Given the description of an element on the screen output the (x, y) to click on. 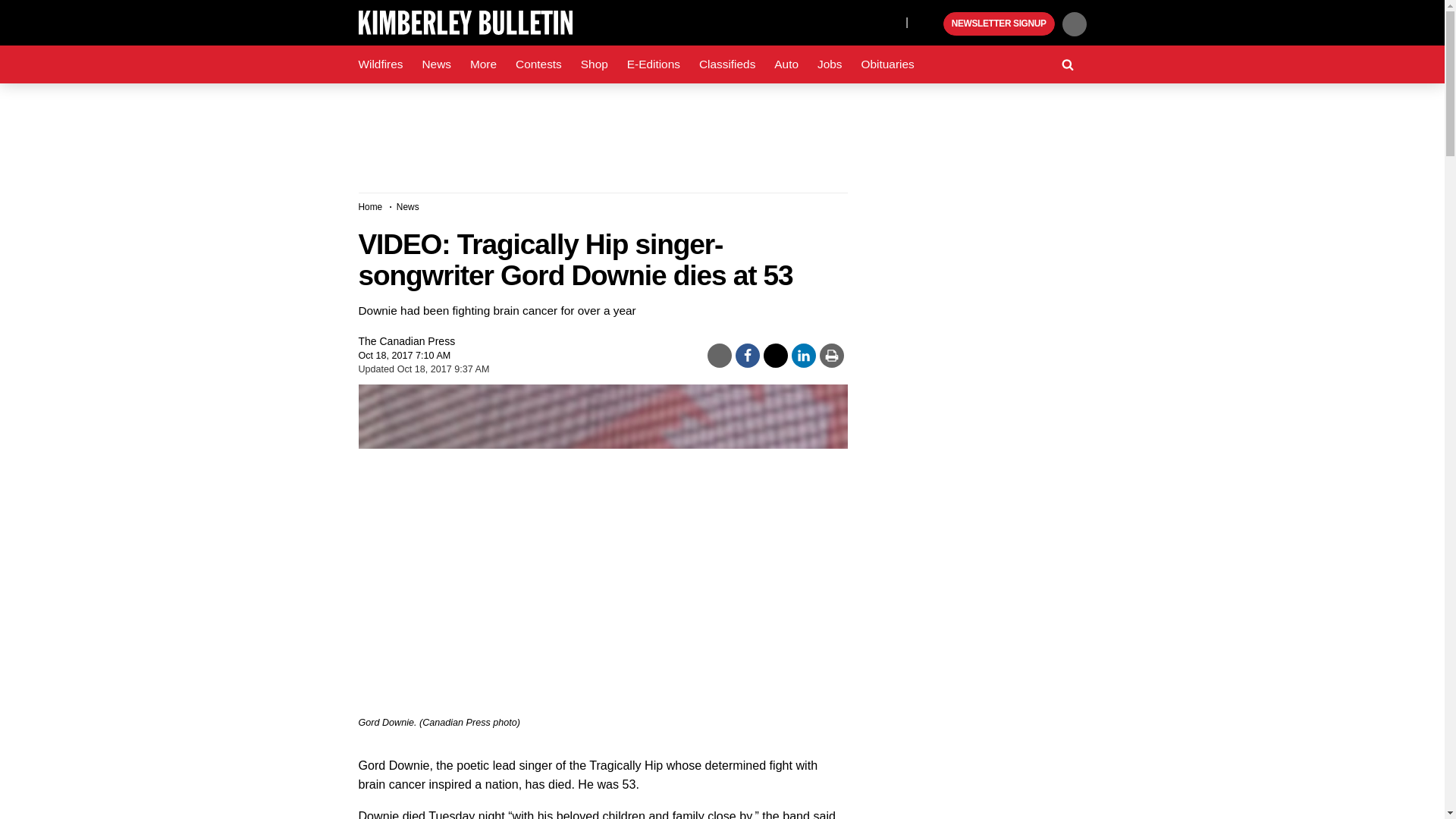
Play (929, 24)
Wildfires (380, 64)
News (435, 64)
X (889, 21)
Black Press Media (929, 24)
NEWSLETTER SIGNUP (998, 24)
